Given the description of an element on the screen output the (x, y) to click on. 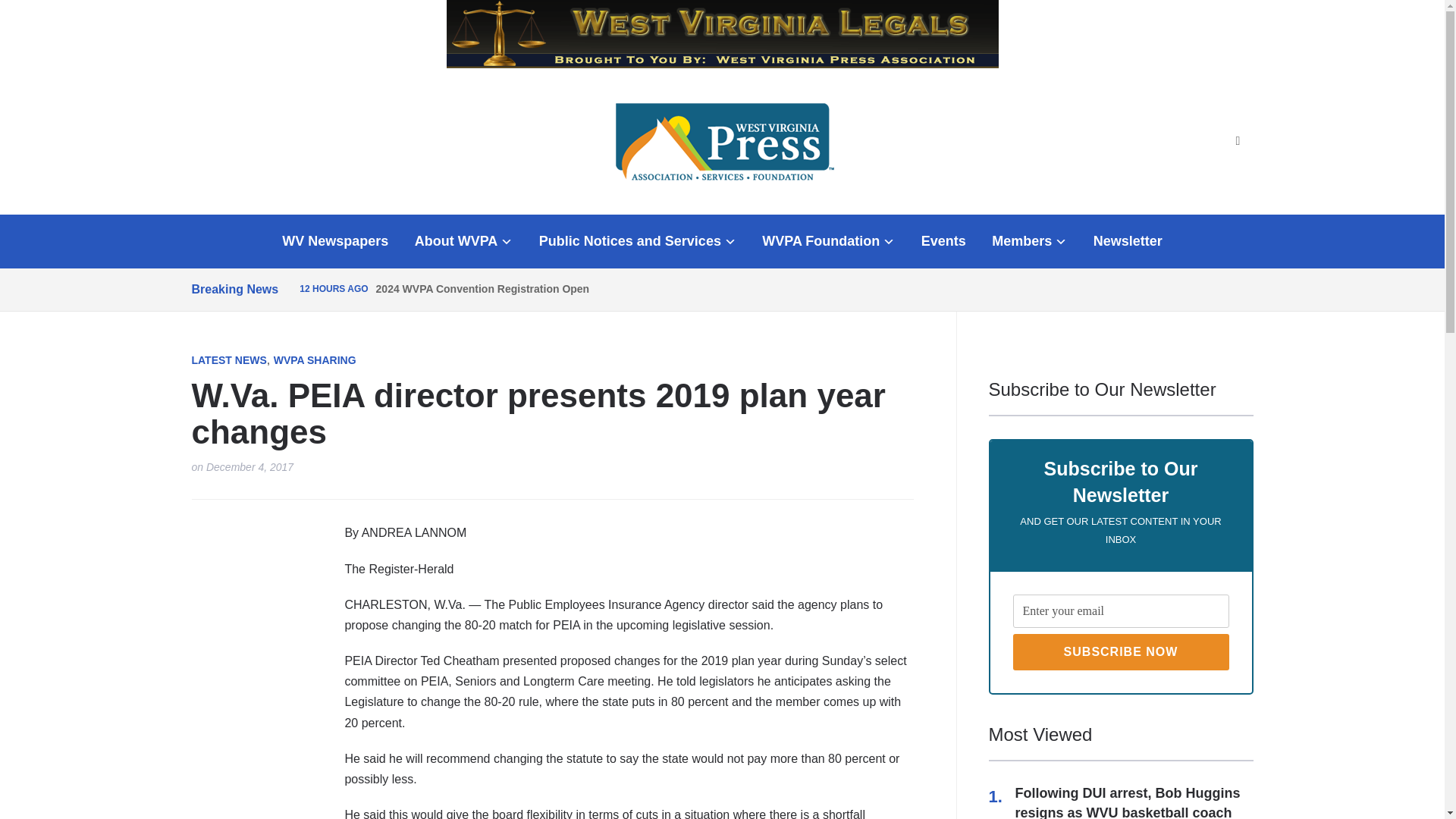
Search (1237, 141)
2024 WVPA Convention Registration Open (482, 288)
Subscribe Now (1120, 651)
